Given the description of an element on the screen output the (x, y) to click on. 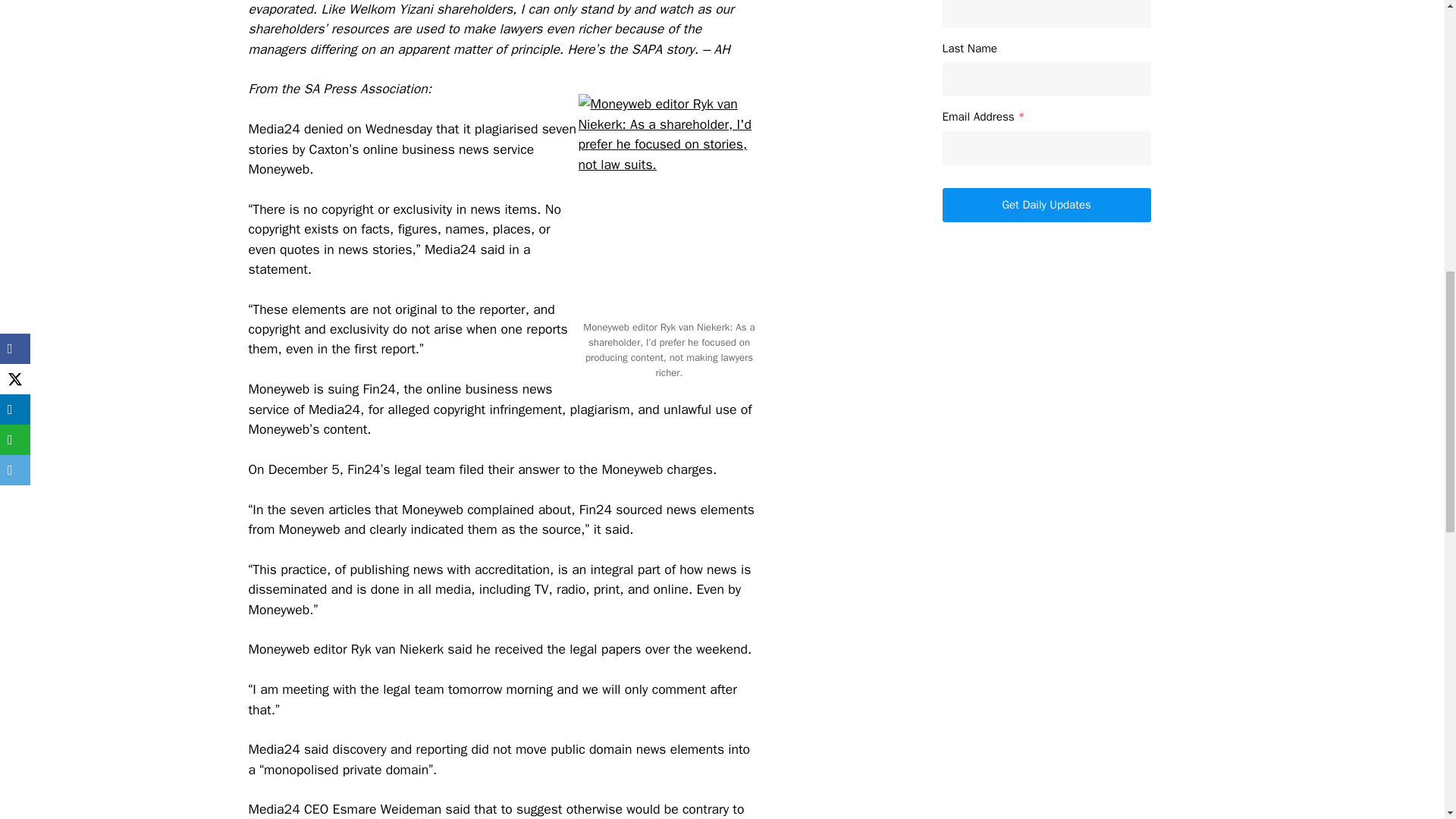
Get Daily Updates (1046, 204)
